Given the description of an element on the screen output the (x, y) to click on. 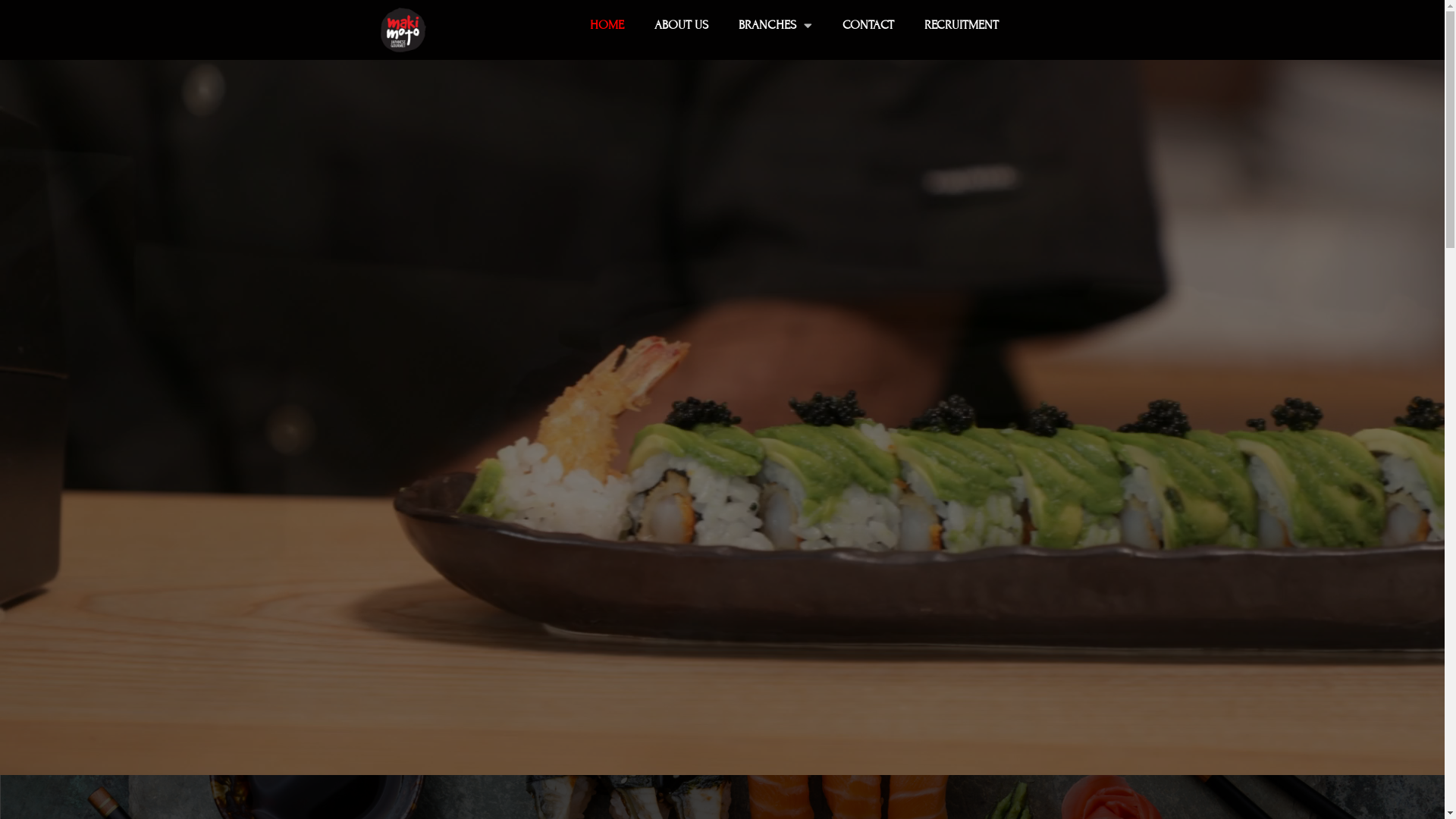
CONTACT Element type: text (868, 24)
BRANCHES Element type: text (775, 24)
RECRUITMENT Element type: text (961, 24)
ABOUT US Element type: text (681, 24)
HOME Element type: text (606, 24)
